Given the description of an element on the screen output the (x, y) to click on. 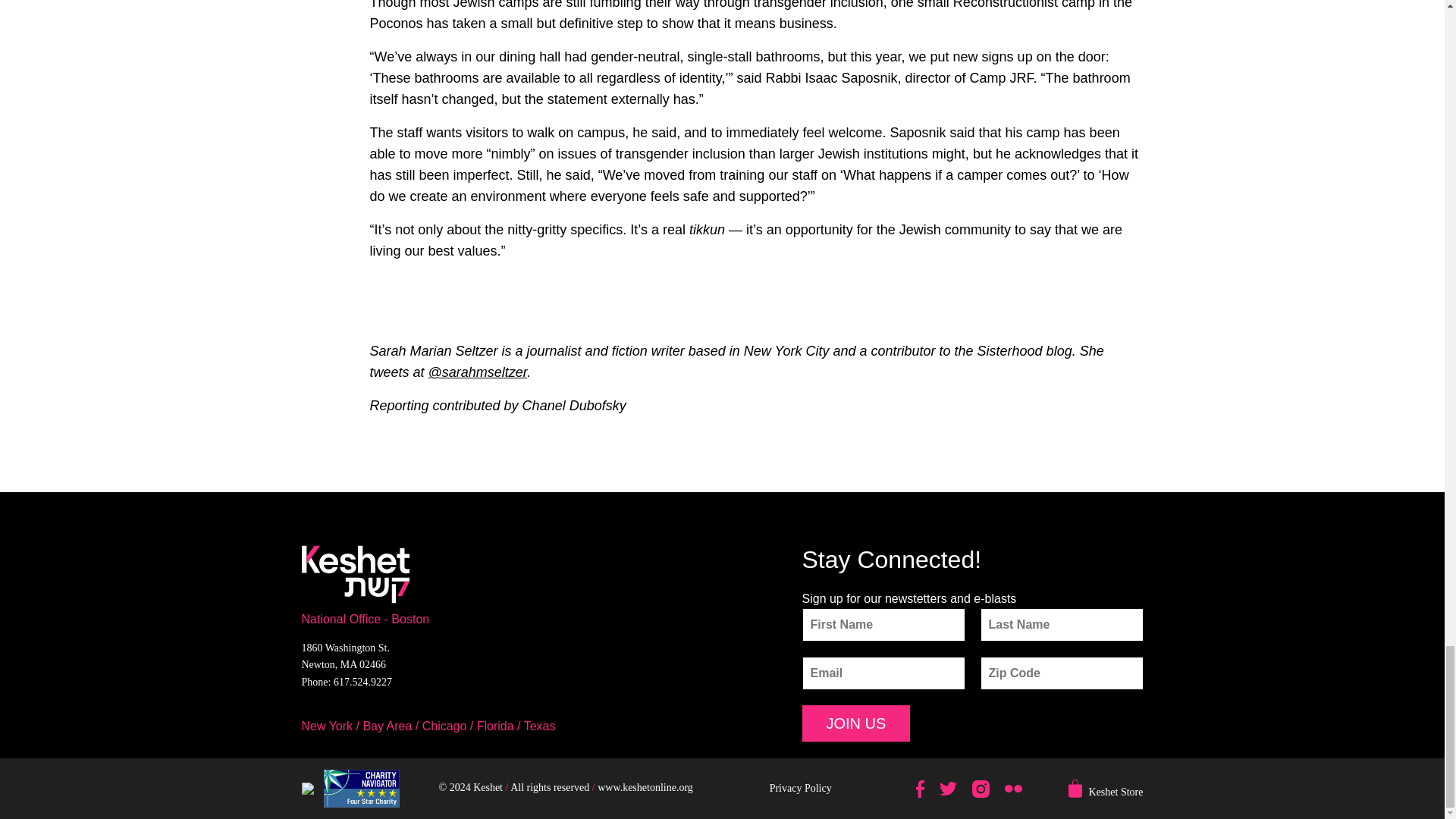
Privacy Policy (800, 787)
www.keshetonline.org (644, 787)
JOIN US (856, 723)
Keshet Store (1115, 791)
